Given the description of an element on the screen output the (x, y) to click on. 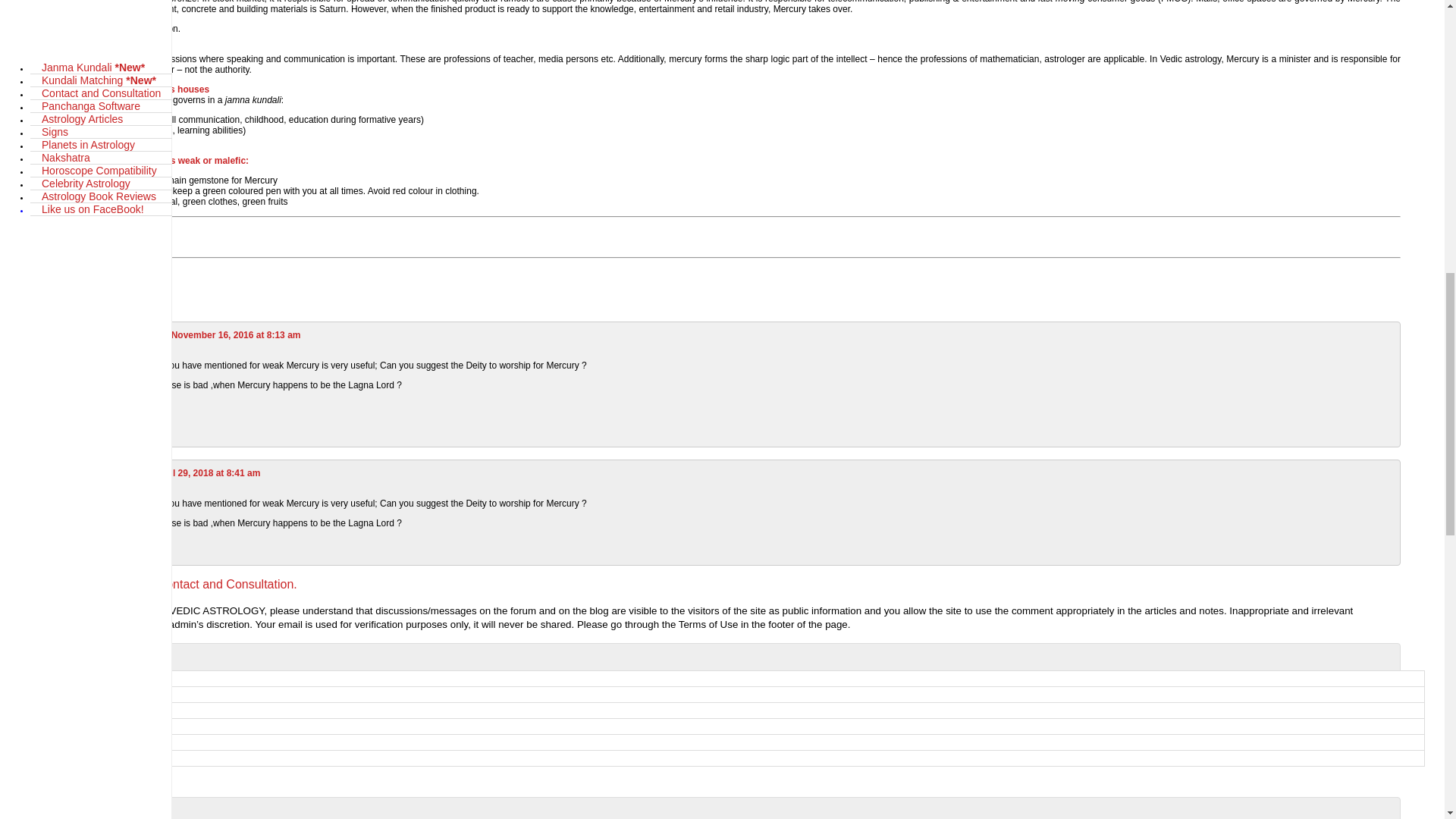
Previous (44, 230)
Sun in Vedic Astrology (723, 758)
Next (33, 243)
Saturn in Vedic Astrology (723, 742)
April 29, 2018 at 8:41 am (207, 472)
November 16, 2016 at 8:13 am (236, 335)
link for Contact and Consultation. (207, 584)
Moon in Janma Kundali (723, 726)
Mars in Vedic Astrology (723, 694)
